Given the description of an element on the screen output the (x, y) to click on. 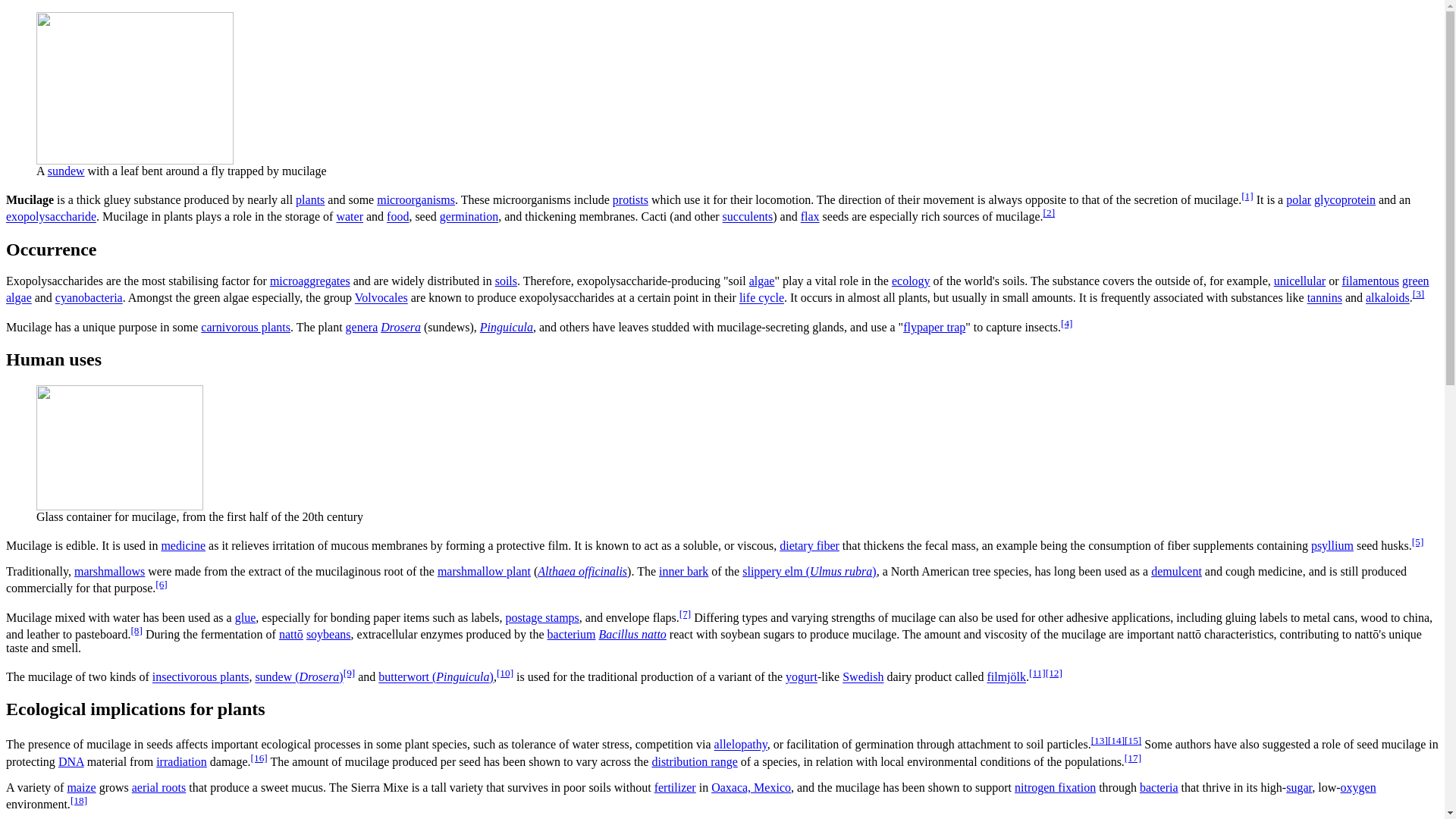
Soil (505, 280)
microorganisms (415, 199)
algae (761, 280)
exopolysaccharide (50, 216)
Pinguicula (506, 327)
Green algae (717, 288)
protists (629, 199)
Food (398, 216)
Germination (468, 216)
Volvocales (381, 297)
filamentous (1370, 280)
life cycle (761, 297)
water (349, 216)
Soil horizon (309, 280)
sundew (66, 170)
